Given the description of an element on the screen output the (x, y) to click on. 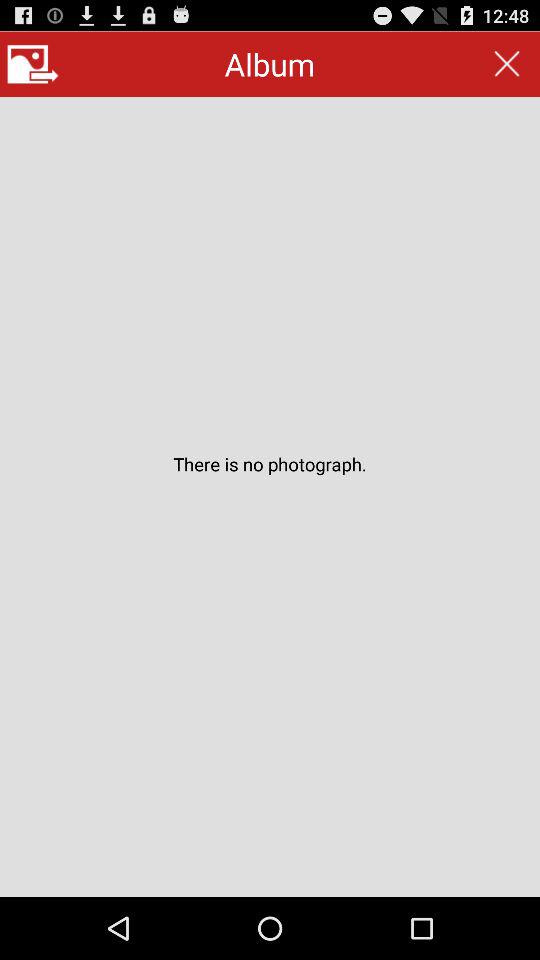
close window (506, 64)
